Given the description of an element on the screen output the (x, y) to click on. 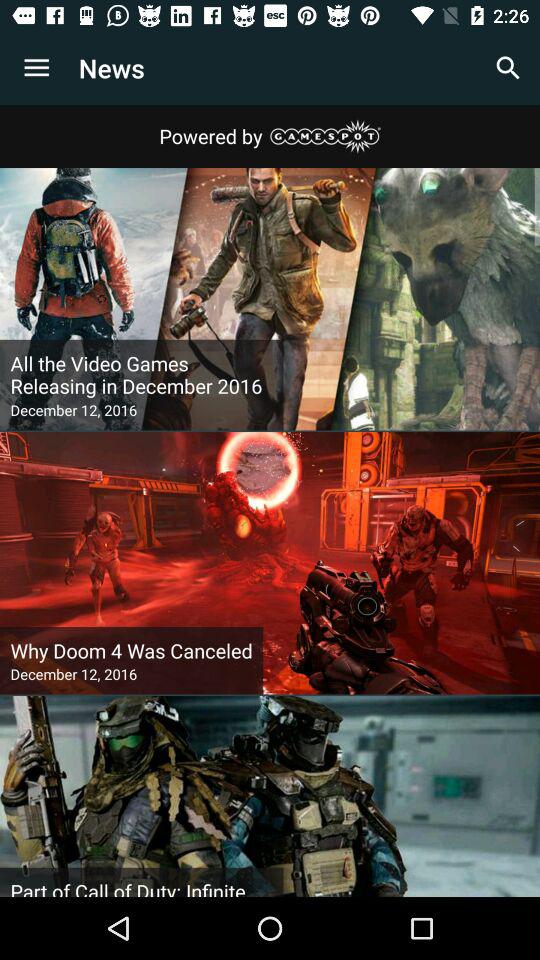
flip to all the video (141, 375)
